Given the description of an element on the screen output the (x, y) to click on. 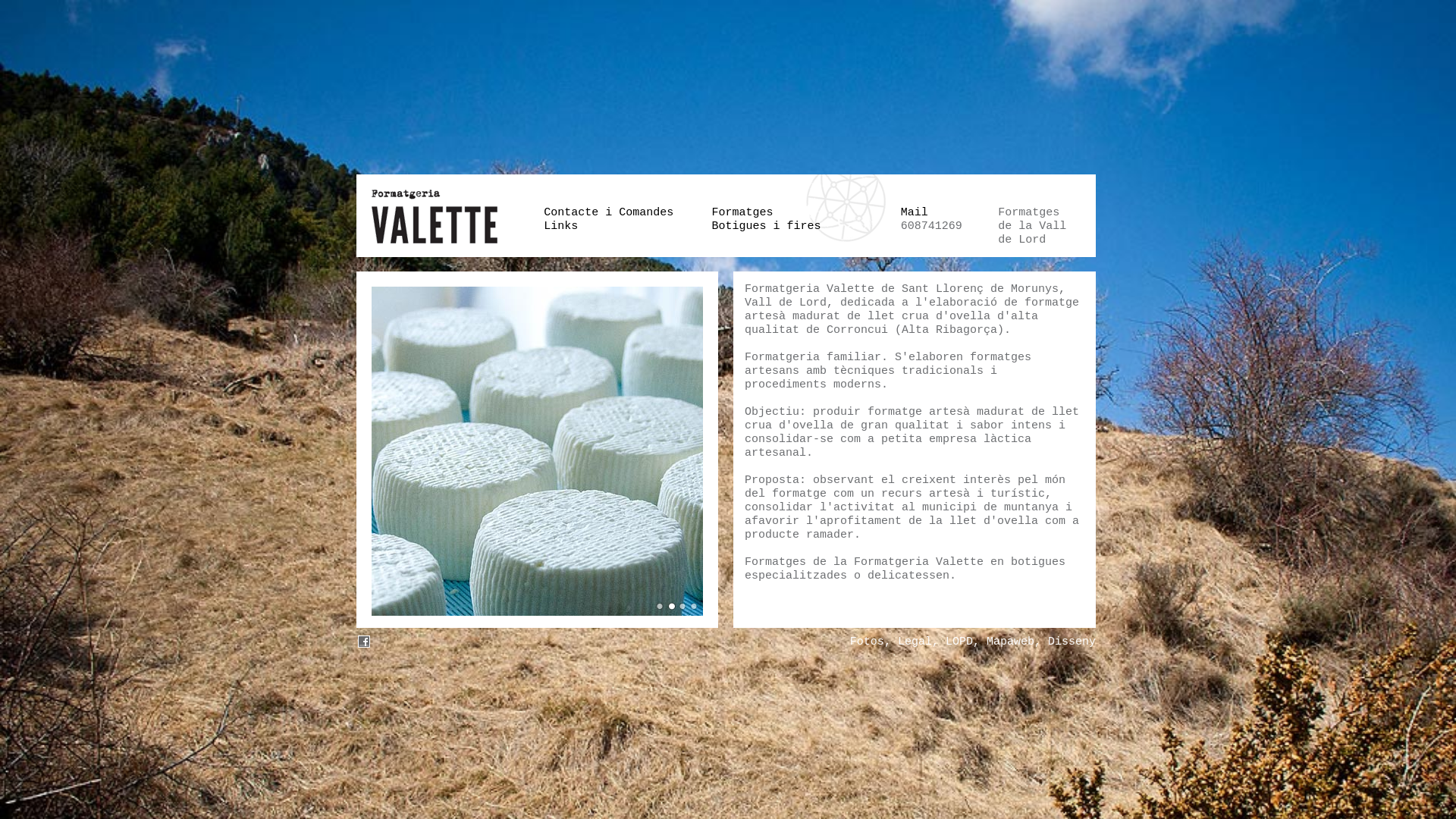
Fotos Element type: text (867, 641)
  Element type: text (363, 641)
Mail Element type: text (914, 212)
Disseny Element type: text (1071, 641)
Legal Element type: text (914, 641)
Mapaweb Element type: text (1010, 641)
LOPD Element type: text (958, 641)
